Given the description of an element on the screen output the (x, y) to click on. 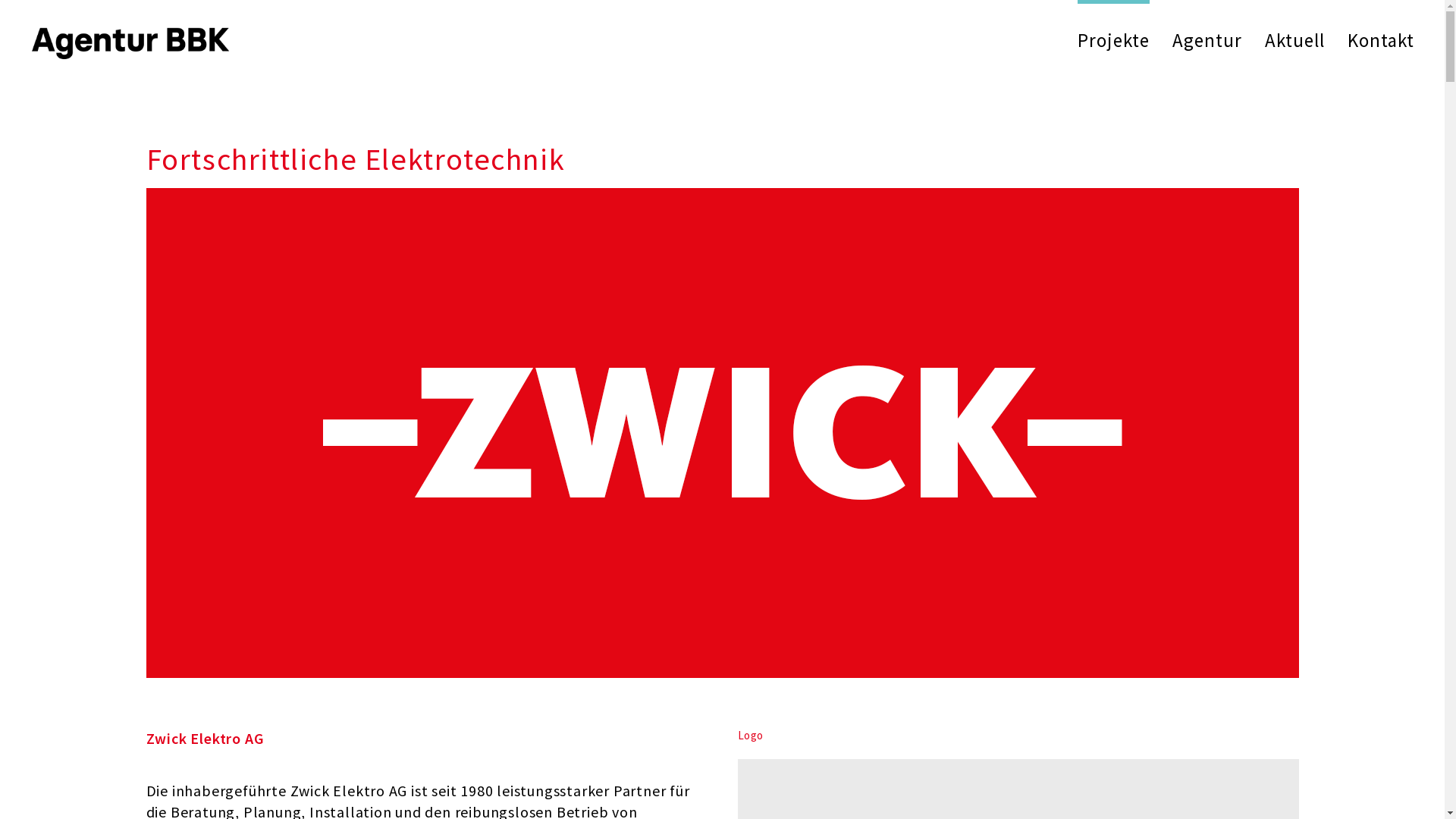
Kontakt Element type: text (1380, 40)
Projekte Element type: text (1113, 40)
Aktuell Element type: text (1294, 40)
Agentur Element type: text (1207, 40)
